Given the description of an element on the screen output the (x, y) to click on. 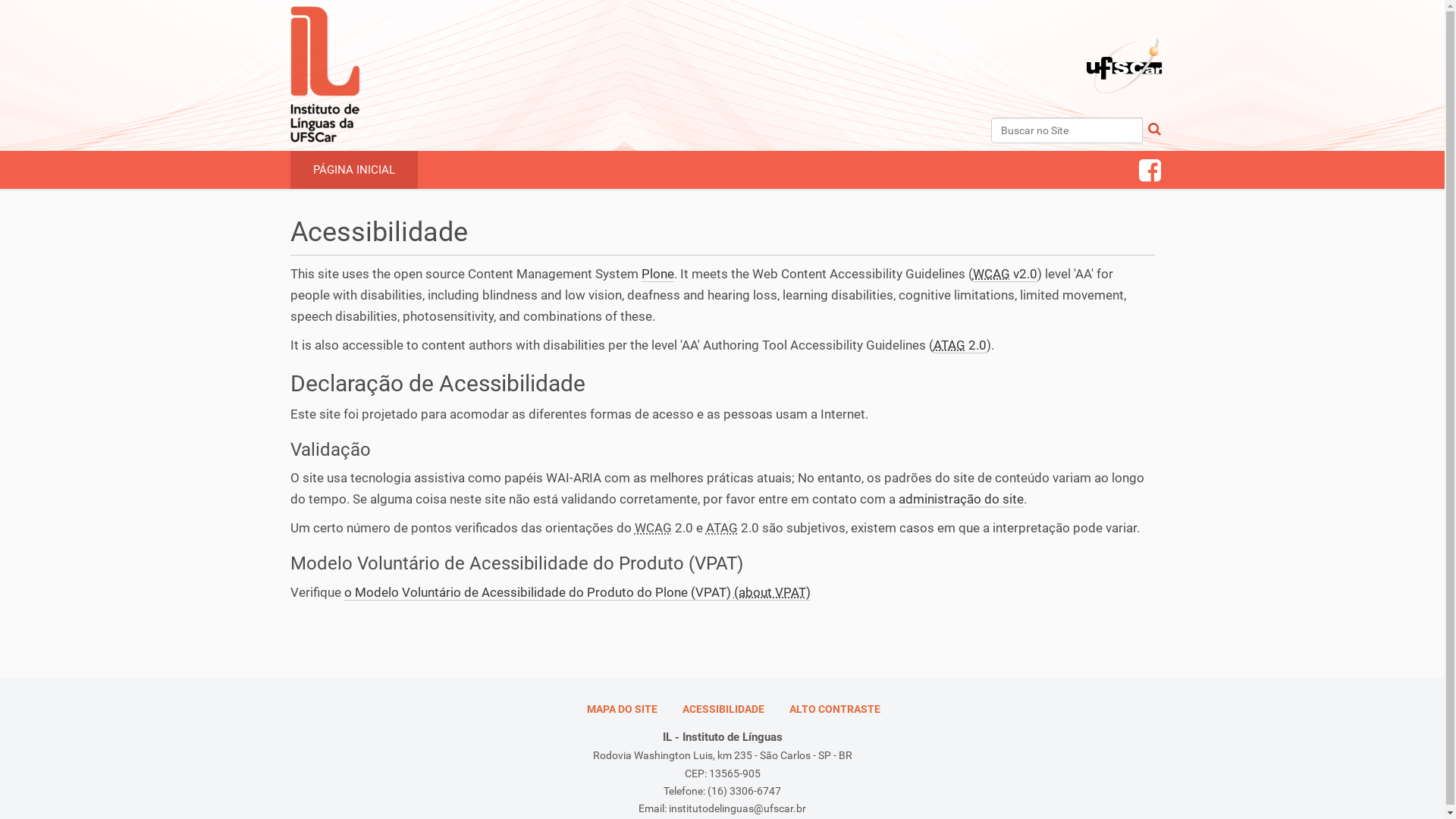
WCAG v2.0 Element type: text (1004, 274)
MAPA DO SITE Element type: text (621, 708)
ALTO CONTRASTE Element type: text (834, 708)
ATAG 2.0 Element type: text (958, 345)
(about VPAT) Element type: text (772, 592)
ACESSIBILIDADE Element type: text (723, 708)
Portal UFSCar Element type: hover (1116, 27)
Plone Element type: text (657, 274)
Buscar no Site Element type: hover (1066, 130)
